Given the description of an element on the screen output the (x, y) to click on. 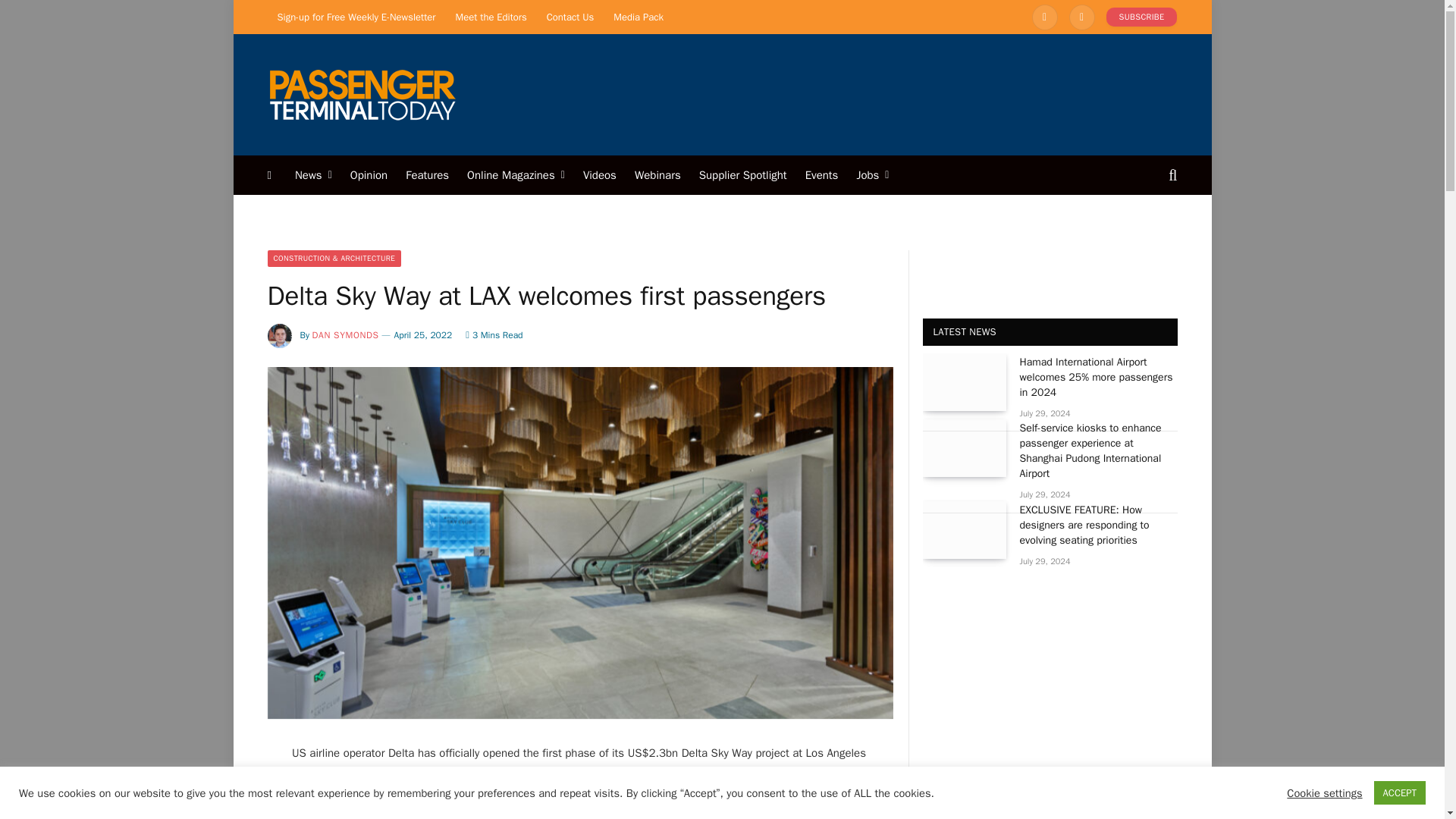
Posts by Dan Symonds (345, 335)
Passenger Terminal Today (361, 94)
